Given the description of an element on the screen output the (x, y) to click on. 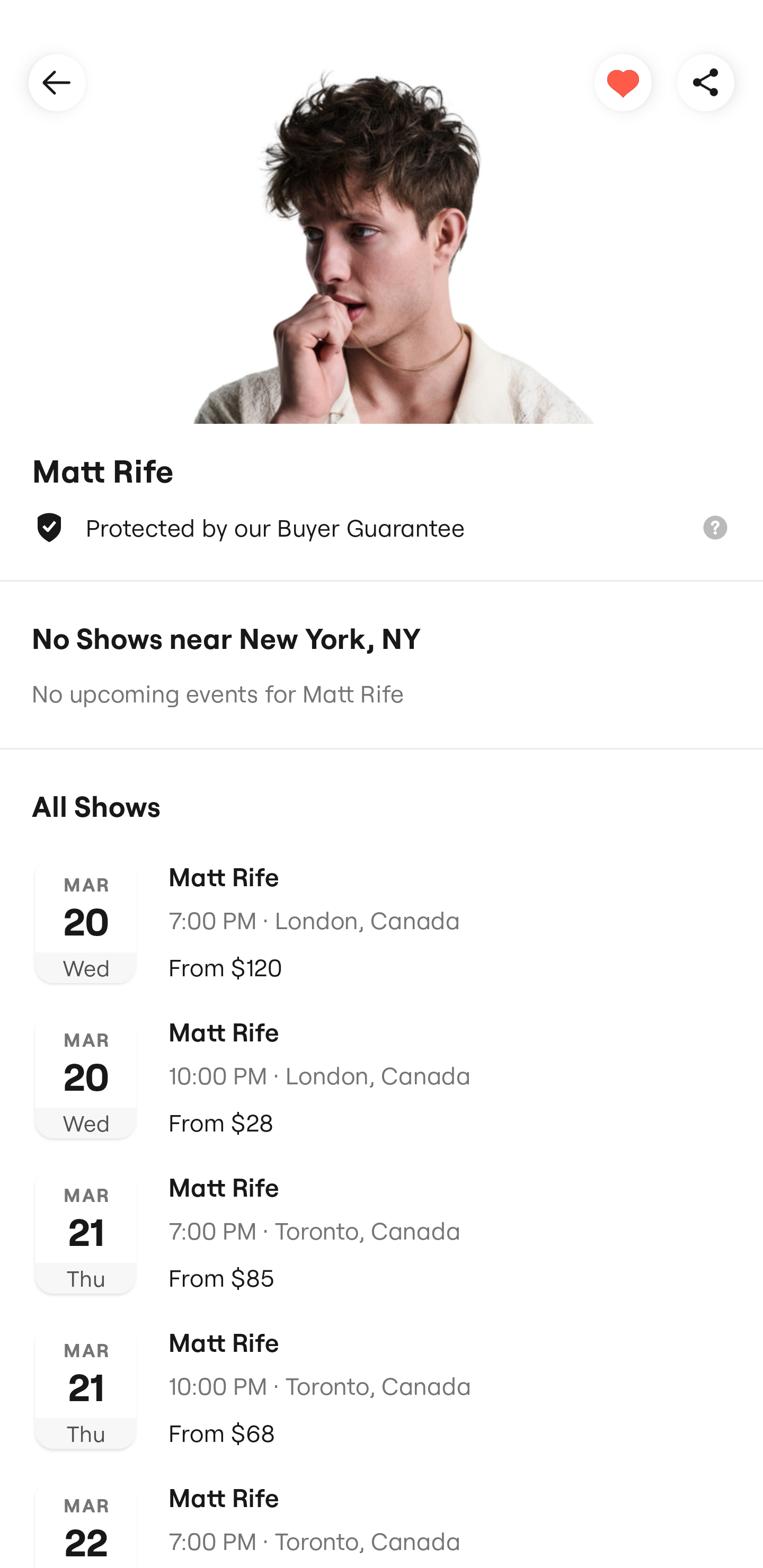
Back (57, 81)
Track this performer (623, 81)
Share this performer (705, 81)
Protected by our Buyer Guarantee Learn more (381, 527)
MAR 22 Matt Rife 7:00 PM · Toronto, Canada (381, 1517)
